Given the description of an element on the screen output the (x, y) to click on. 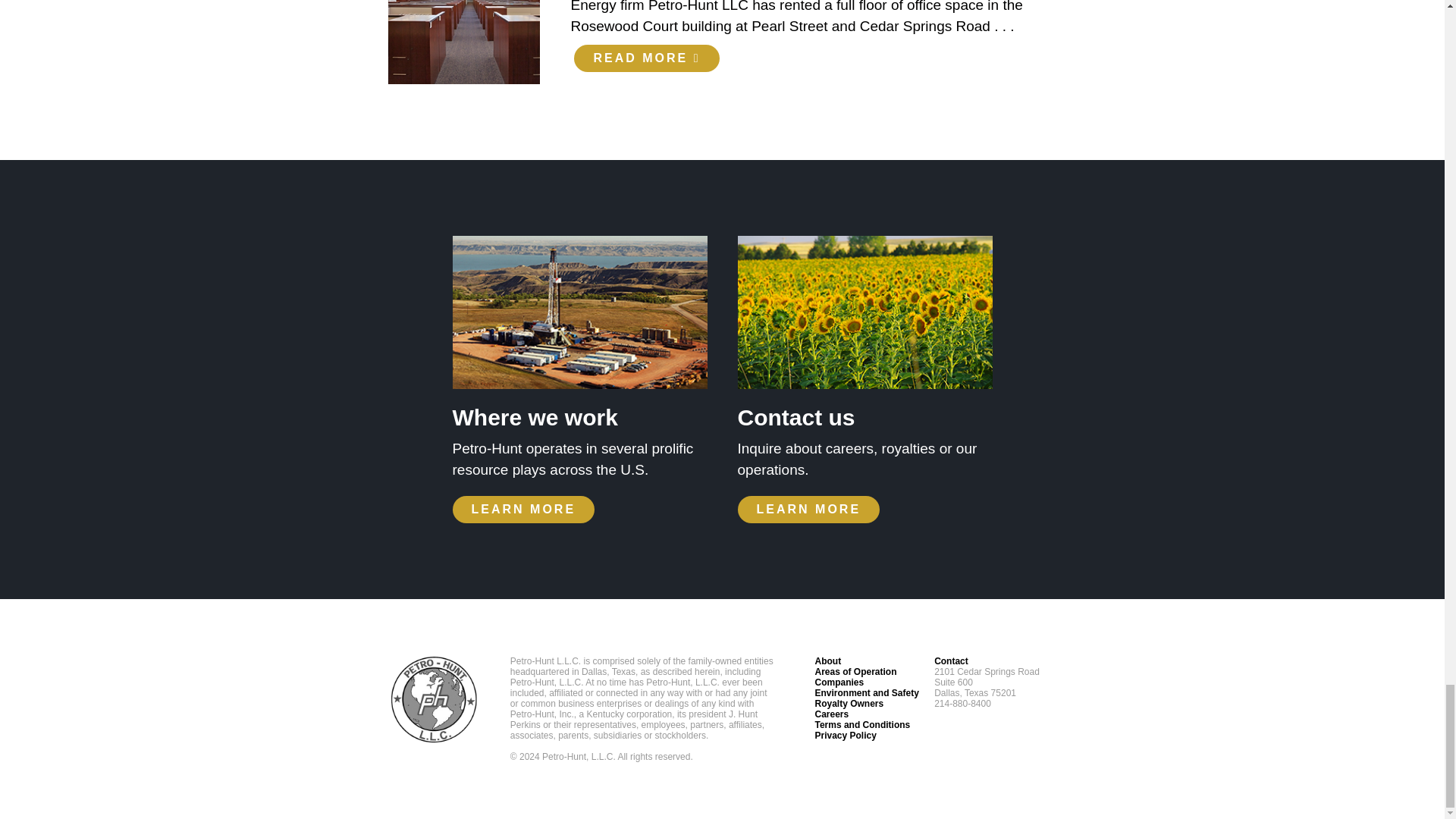
About (827, 661)
Areas of Operation (854, 671)
Privacy Policy (844, 735)
Royalty Owners (848, 703)
Companies (838, 682)
Terms and Conditions (861, 724)
Careers (830, 714)
Environment and Safety (865, 692)
